Given the description of an element on the screen output the (x, y) to click on. 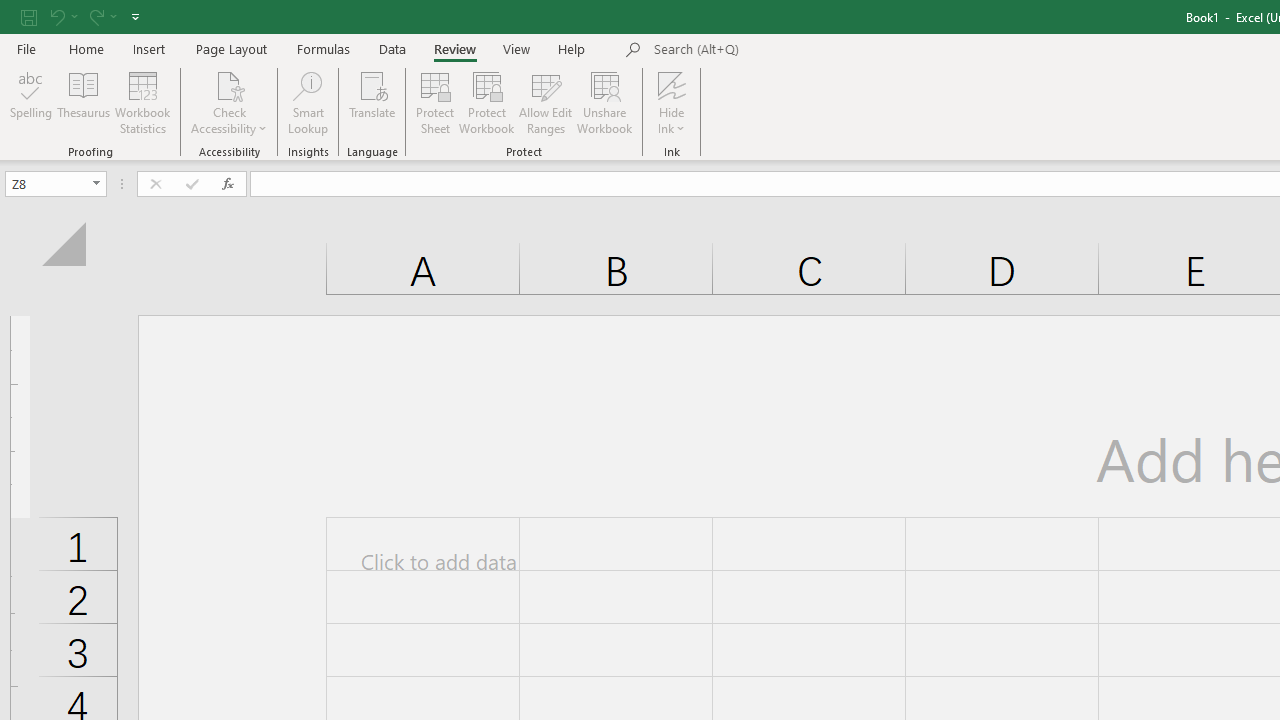
Page Layout (230, 48)
Data (392, 48)
Hide Ink (671, 102)
Workbook Statistics (142, 102)
View (517, 48)
Protect Workbook... (486, 102)
Allow Edit Ranges (545, 102)
